Given the description of an element on the screen output the (x, y) to click on. 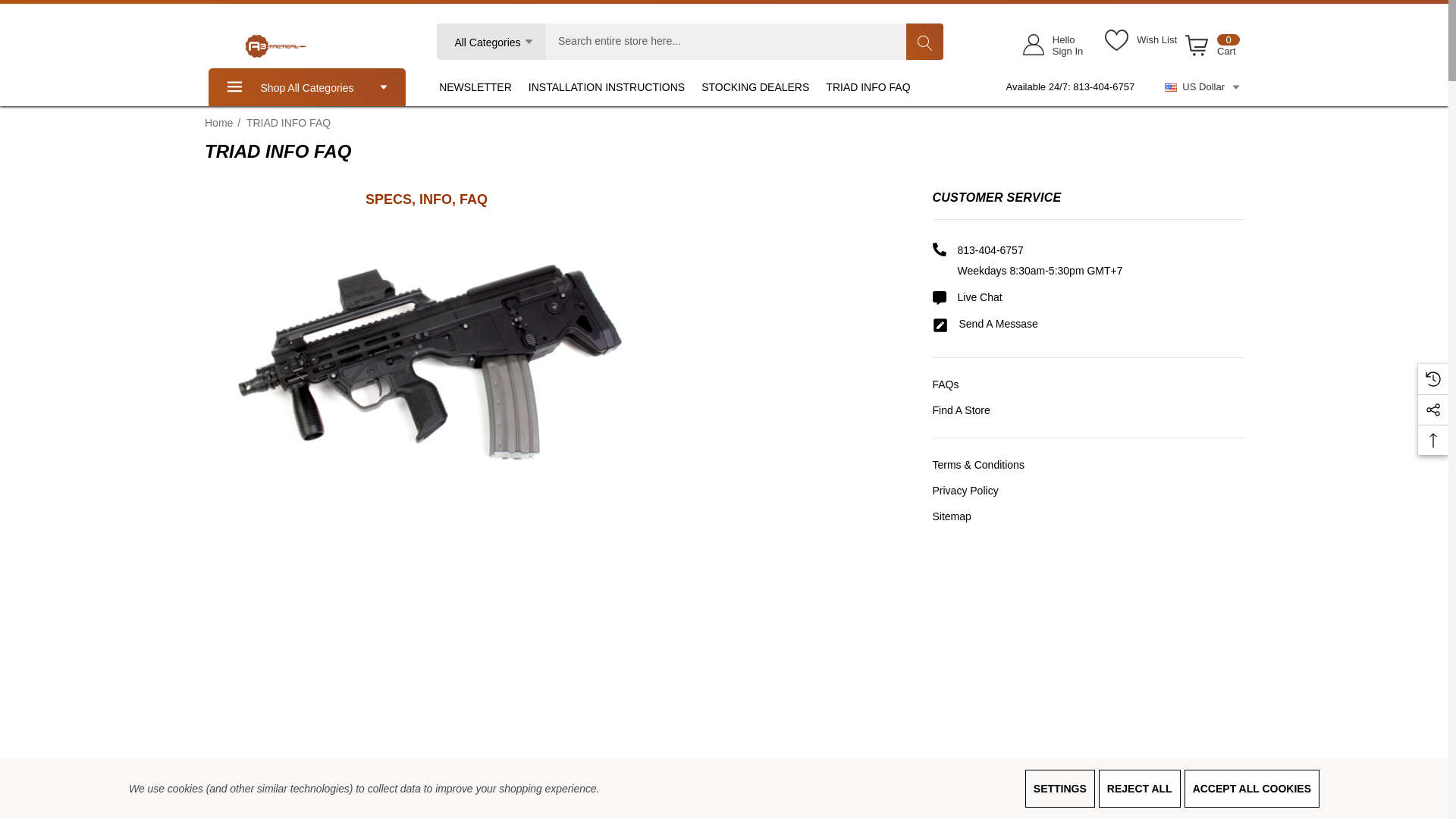
Shop All Categories (307, 86)
img-3922-640.jpg (426, 360)
Icon User Account Icon User Account (1033, 43)
Wish List Wish List (1209, 47)
A3 Tactical Inc. (1048, 44)
Review Your Cart Review Your Cart (1116, 39)
